Given the description of an element on the screen output the (x, y) to click on. 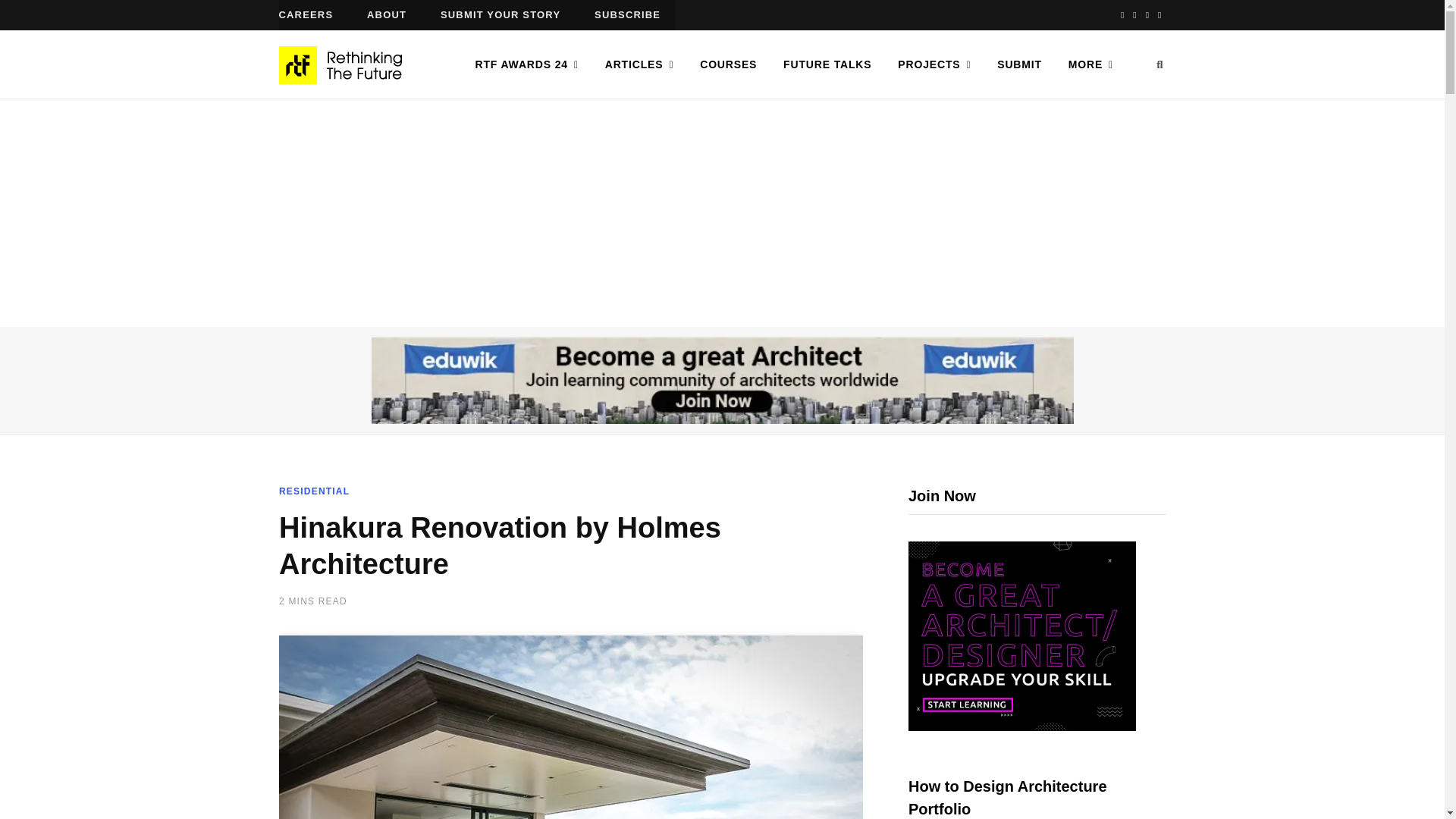
ABOUT (387, 15)
Hinakura Renovation by Holmes Architecture (571, 727)
SUBSCRIBE (627, 15)
CAREERS (306, 15)
SUBMIT YOUR STORY (500, 15)
RTF AWARDS 24 (526, 64)
